Given the description of an element on the screen output the (x, y) to click on. 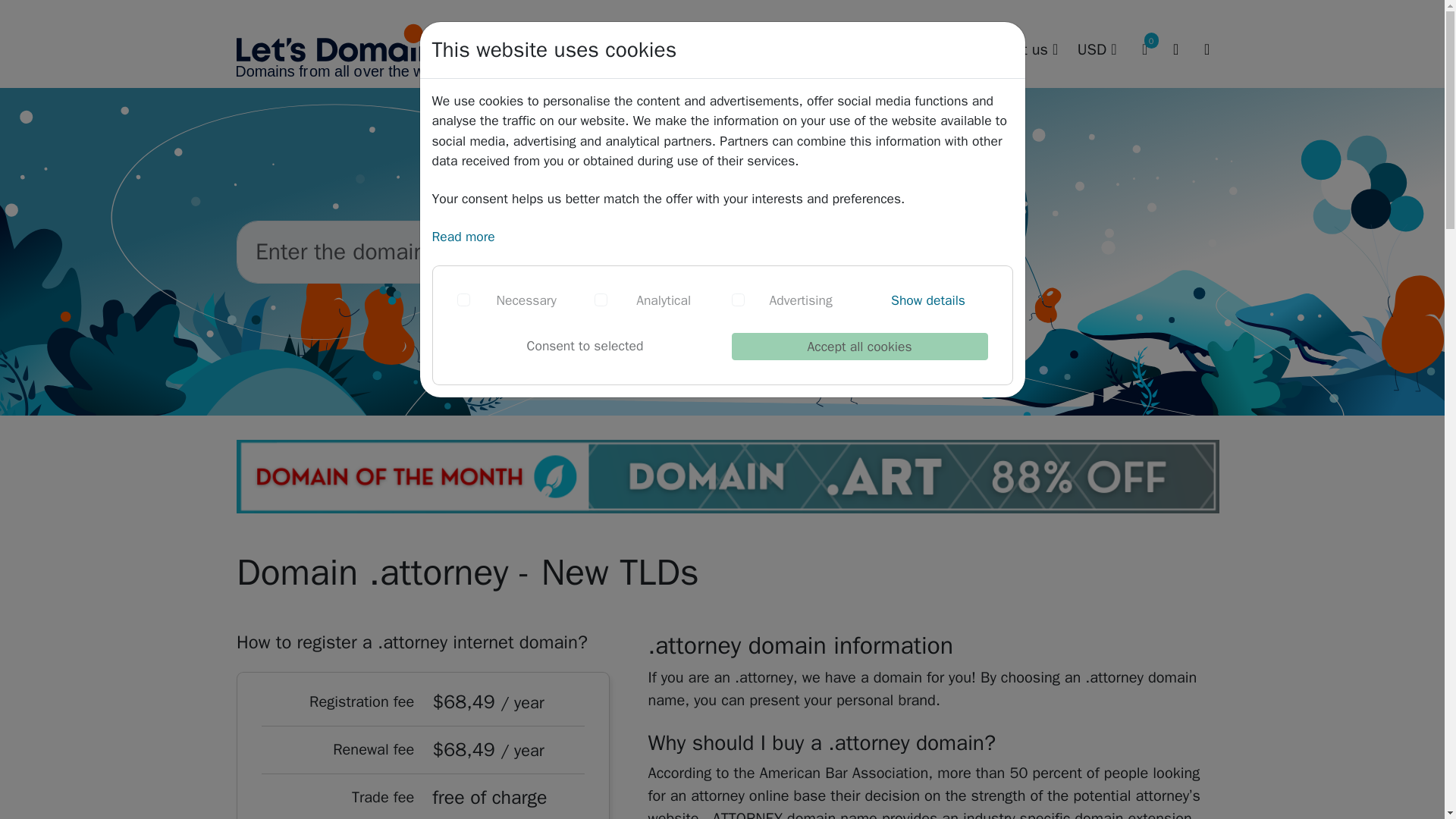
Asian domains (839, 118)
African domains (839, 89)
Contact (1071, 174)
Search (678, 251)
Search (713, 49)
Domain FAQ (881, 49)
WHOIS (851, 145)
Domain discounts (673, 145)
Two-factor authentication (851, 174)
GBP (1112, 117)
South American domains (839, 233)
Transfer (673, 174)
North American domains (839, 204)
European domains (839, 146)
Services (788, 49)
